Given the description of an element on the screen output the (x, y) to click on. 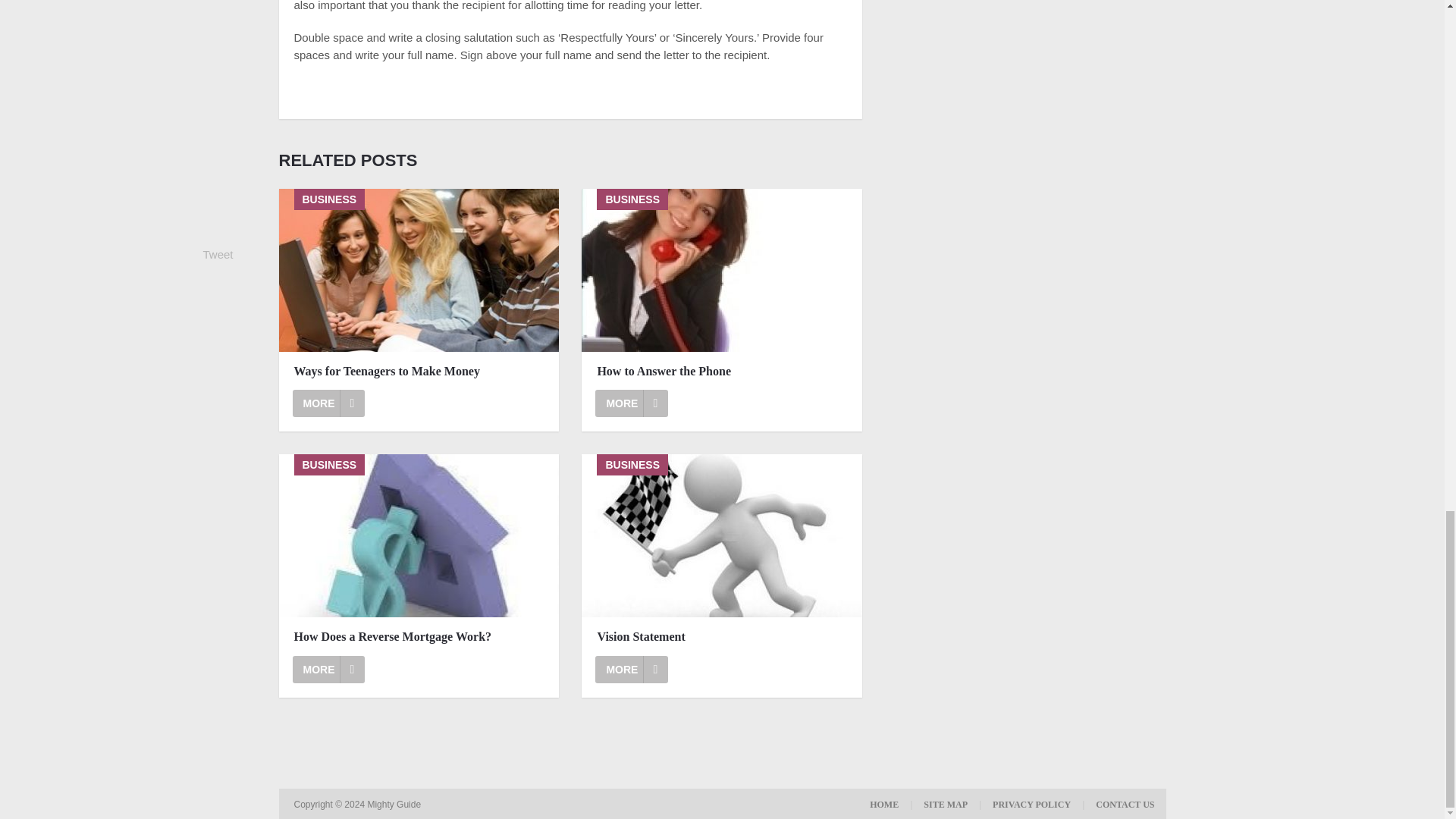
How to Answer the Phone (721, 371)
How Does a Reverse Mortgage Work? (328, 669)
Ways for Teenagers to Make Money (328, 402)
BUSINESS (419, 535)
Vision Statement (721, 636)
How to Answer the Phone (720, 270)
Vision Statement (631, 669)
Ways for Teenagers to Make Money (419, 270)
How Does a Reverse Mortgage Work? (419, 535)
BUSINESS (720, 535)
